Given the description of an element on the screen output the (x, y) to click on. 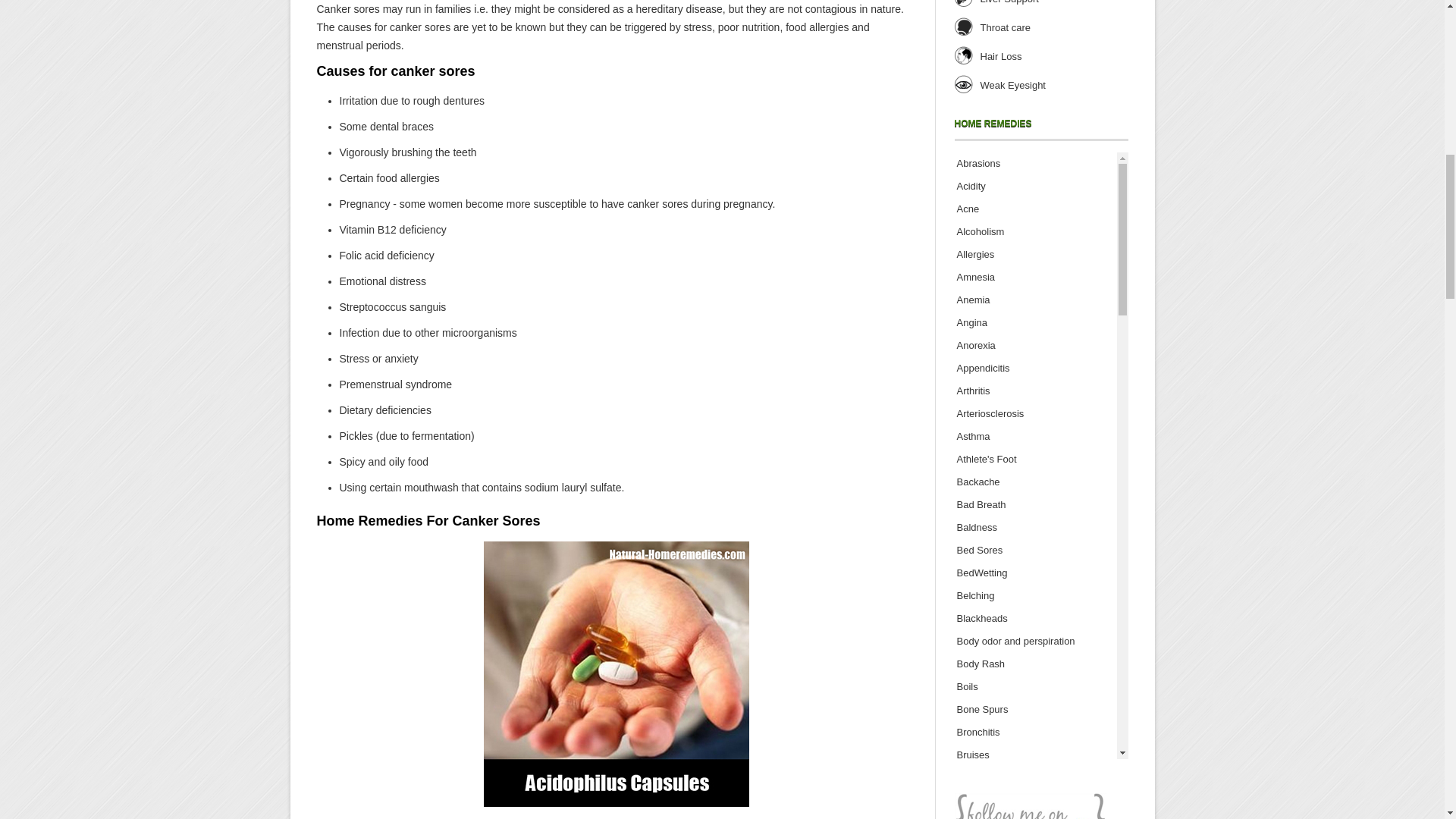
Liver Support (1008, 2)
Alcoholism (980, 231)
Weak Eyesight (1012, 84)
Acidity (970, 185)
Abrasions (978, 163)
Throat care (1004, 27)
Hair Loss (1000, 56)
Acne (967, 208)
